Given the description of an element on the screen output the (x, y) to click on. 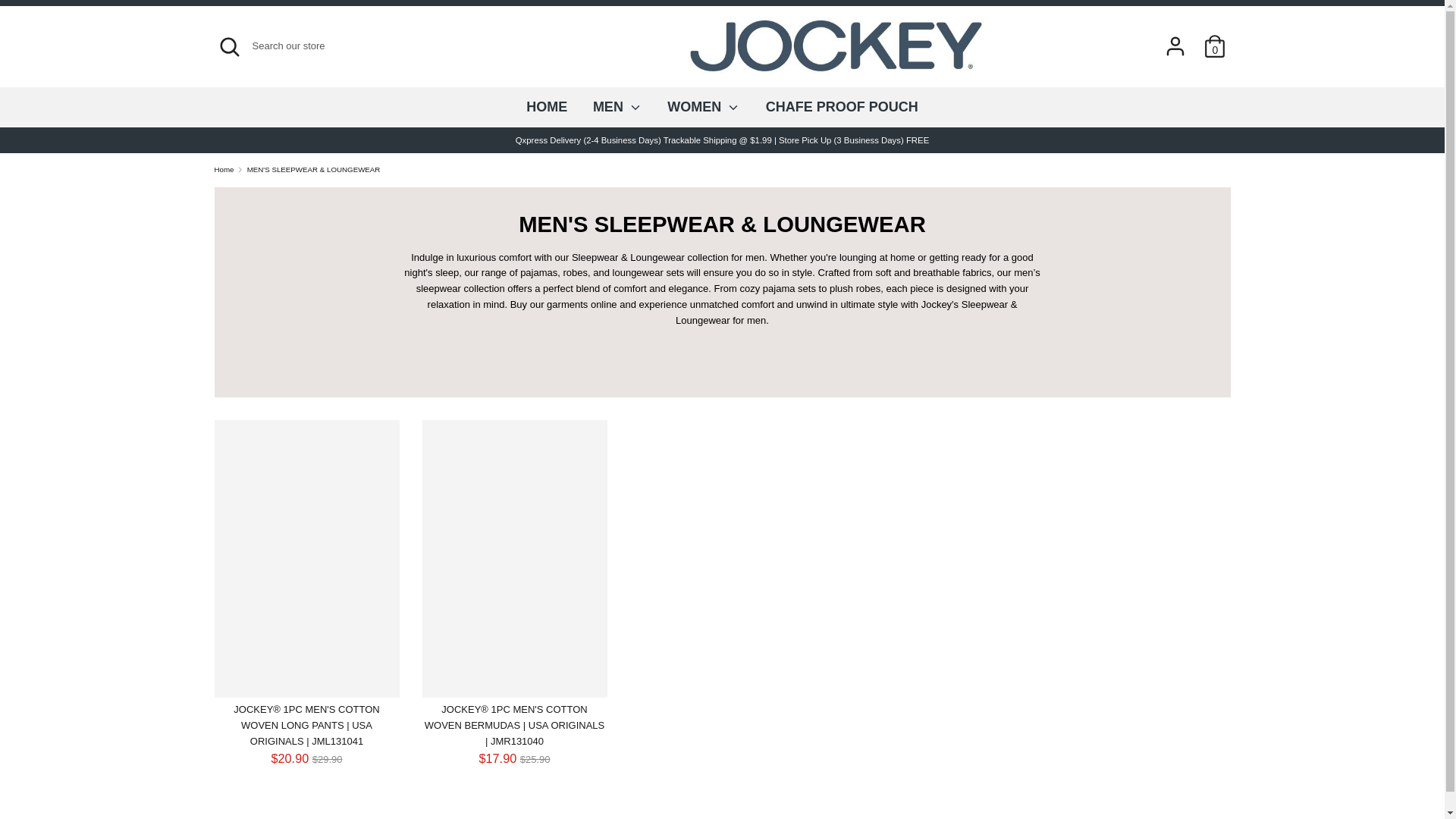
Visa (1213, 771)
0 (1214, 38)
Google Pay (1114, 771)
Union Pay (1181, 771)
Mastercard (1147, 771)
